Given the description of an element on the screen output the (x, y) to click on. 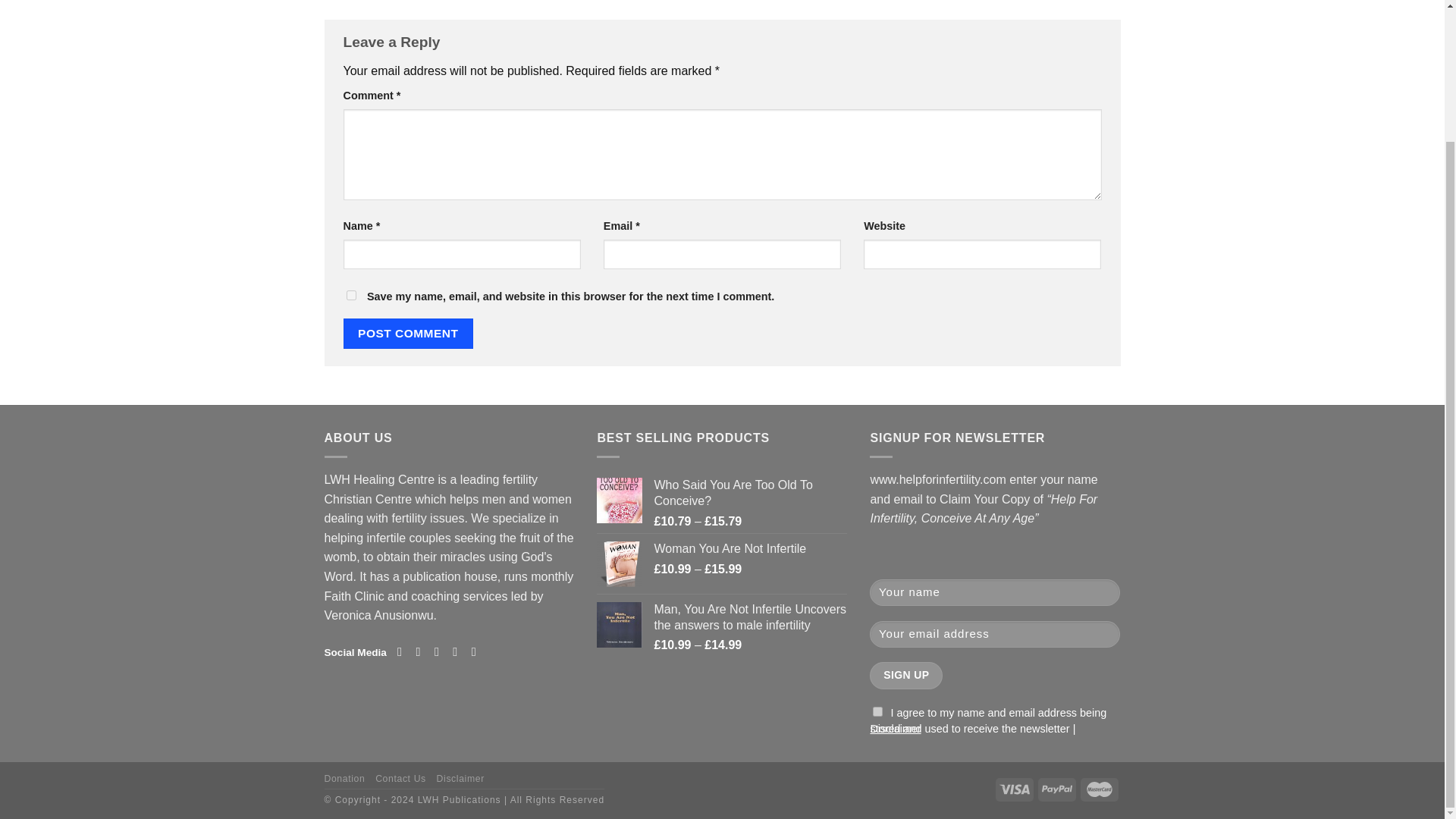
1 (877, 711)
yes (350, 295)
Follow on Facebook (403, 651)
Sign Up (905, 675)
Post Comment (407, 333)
Follow on Instagram (421, 651)
